Given the description of an element on the screen output the (x, y) to click on. 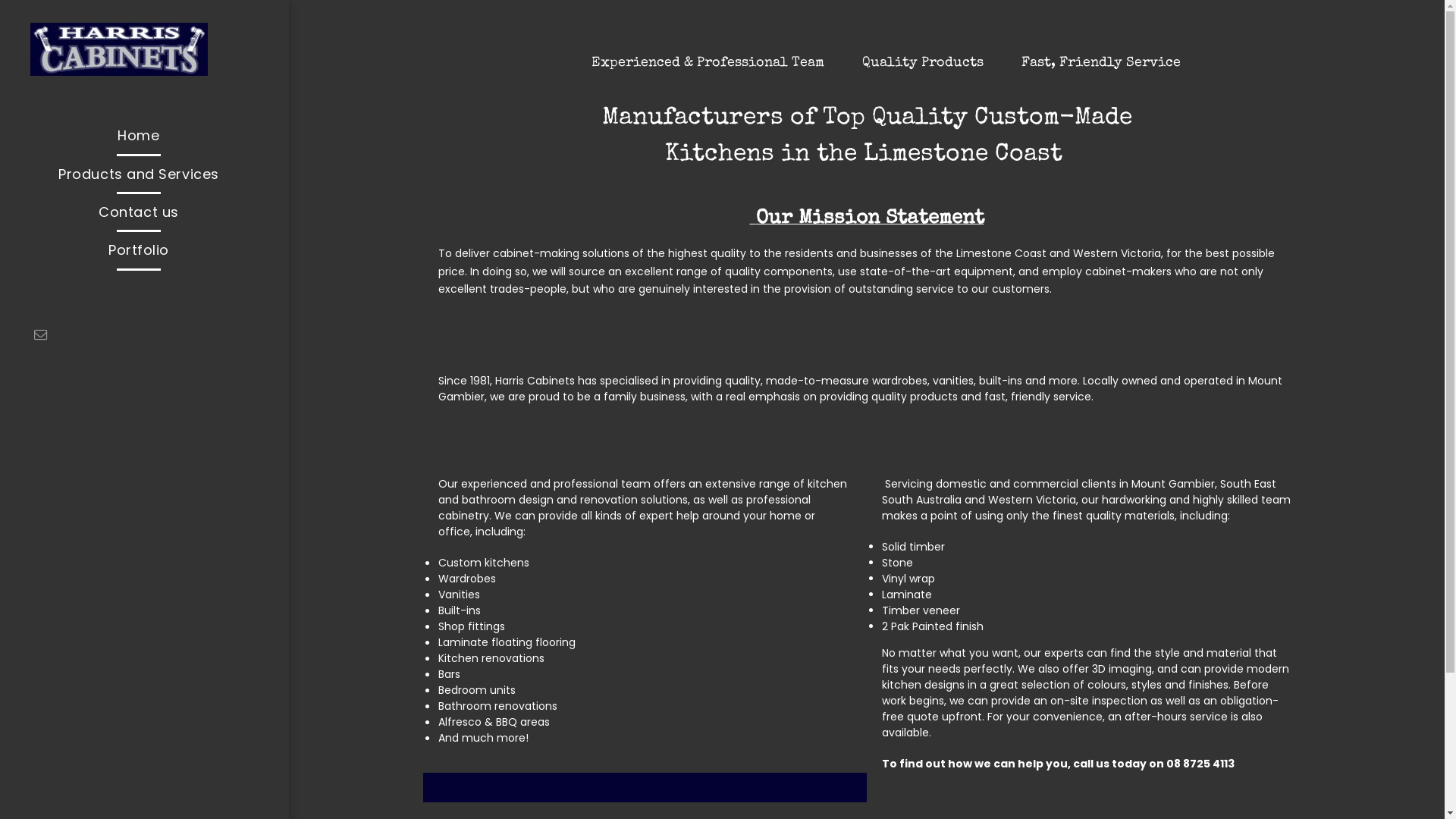
Home Element type: text (138, 135)
Contact us Element type: text (138, 211)
Products and Services Element type: text (138, 173)
Portfolio Element type: text (138, 249)
08 8725 4113 Element type: text (1200, 763)
